Given the description of an element on the screen output the (x, y) to click on. 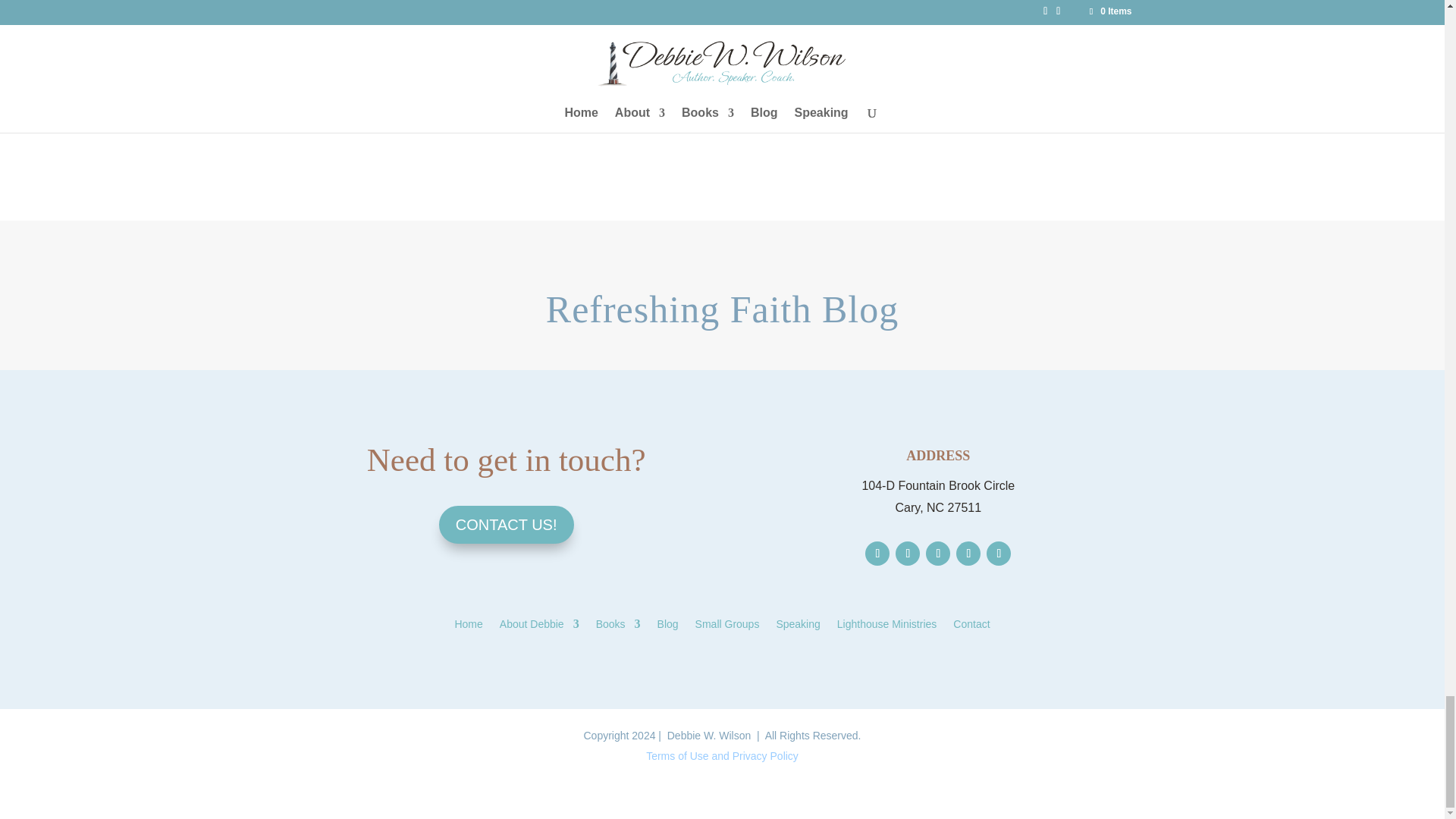
Follow on Pinterest (967, 553)
Follow on Instagram (938, 553)
Follow on RSS (998, 553)
Follow on Facebook (876, 553)
Follow on X (907, 553)
